Given the description of an element on the screen output the (x, y) to click on. 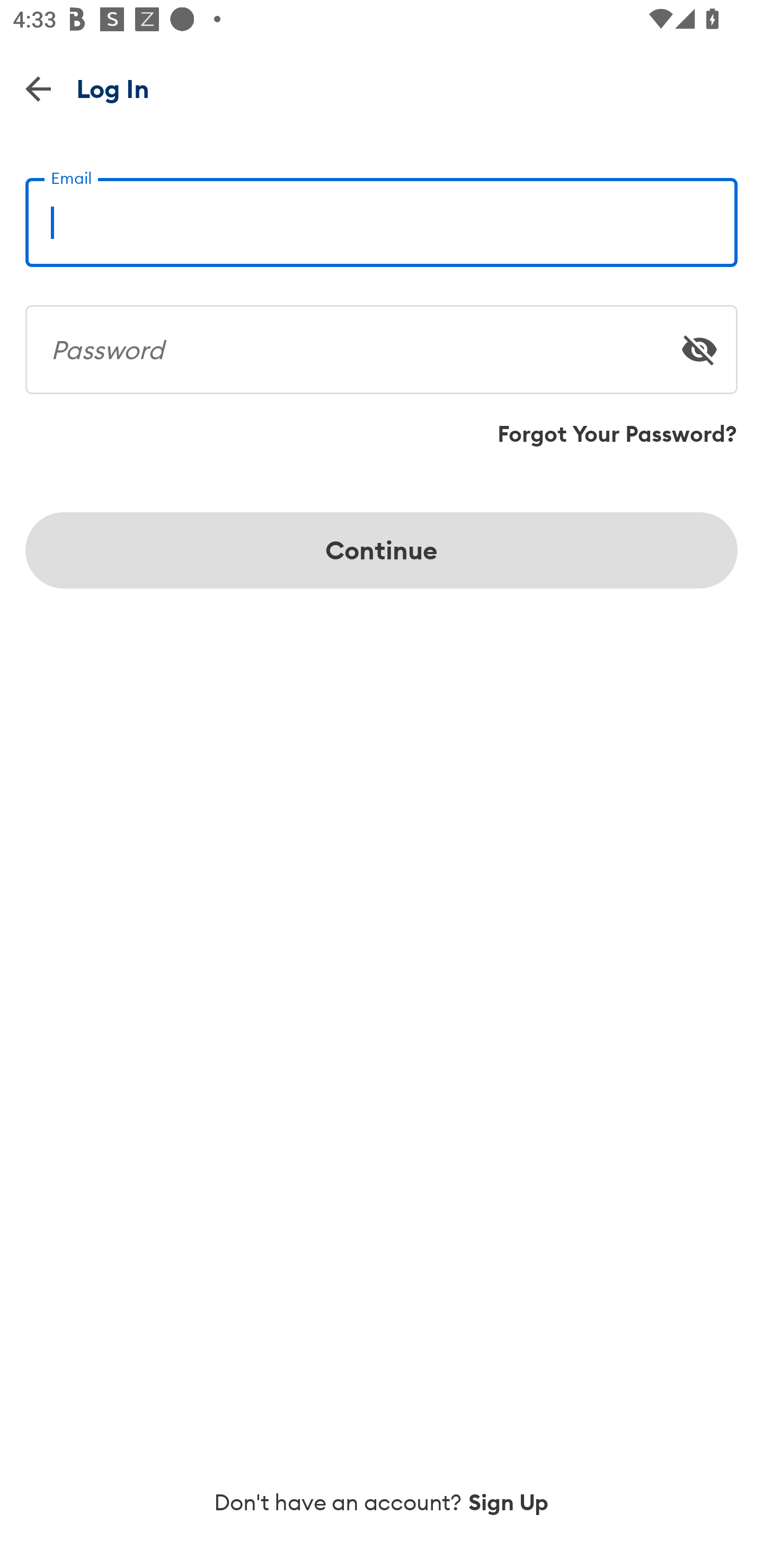
Back (38, 88)
Email (381, 215)
Password (381, 342)
Forgot Your Password? (617, 433)
Continue (381, 550)
Sign Up (508, 1502)
